Given the description of an element on the screen output the (x, y) to click on. 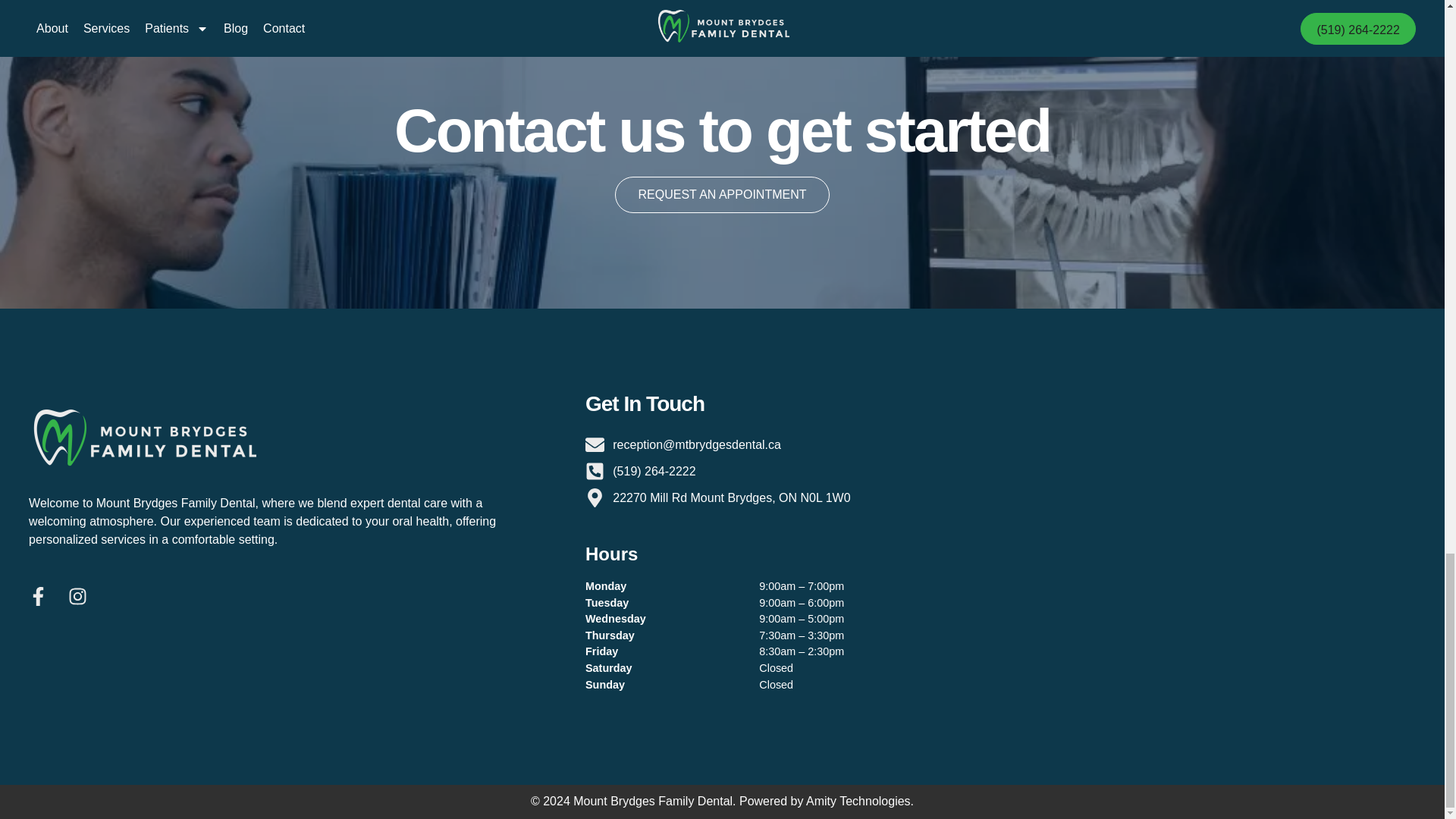
mount brydges family dental (1228, 523)
REQUEST AN APPOINTMENT (721, 194)
